Given the description of an element on the screen output the (x, y) to click on. 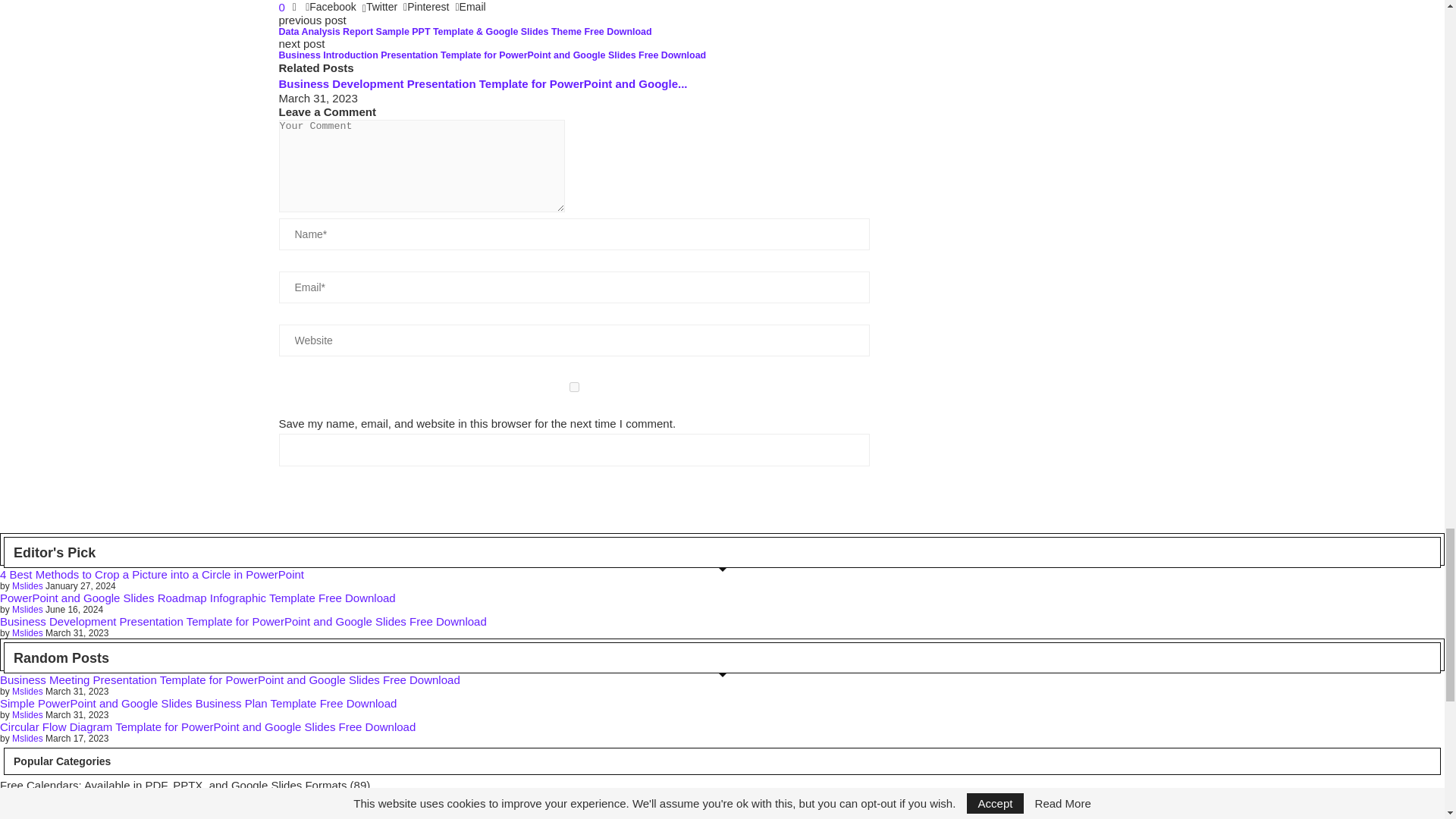
Submit (574, 450)
yes (574, 387)
